Given the description of an element on the screen output the (x, y) to click on. 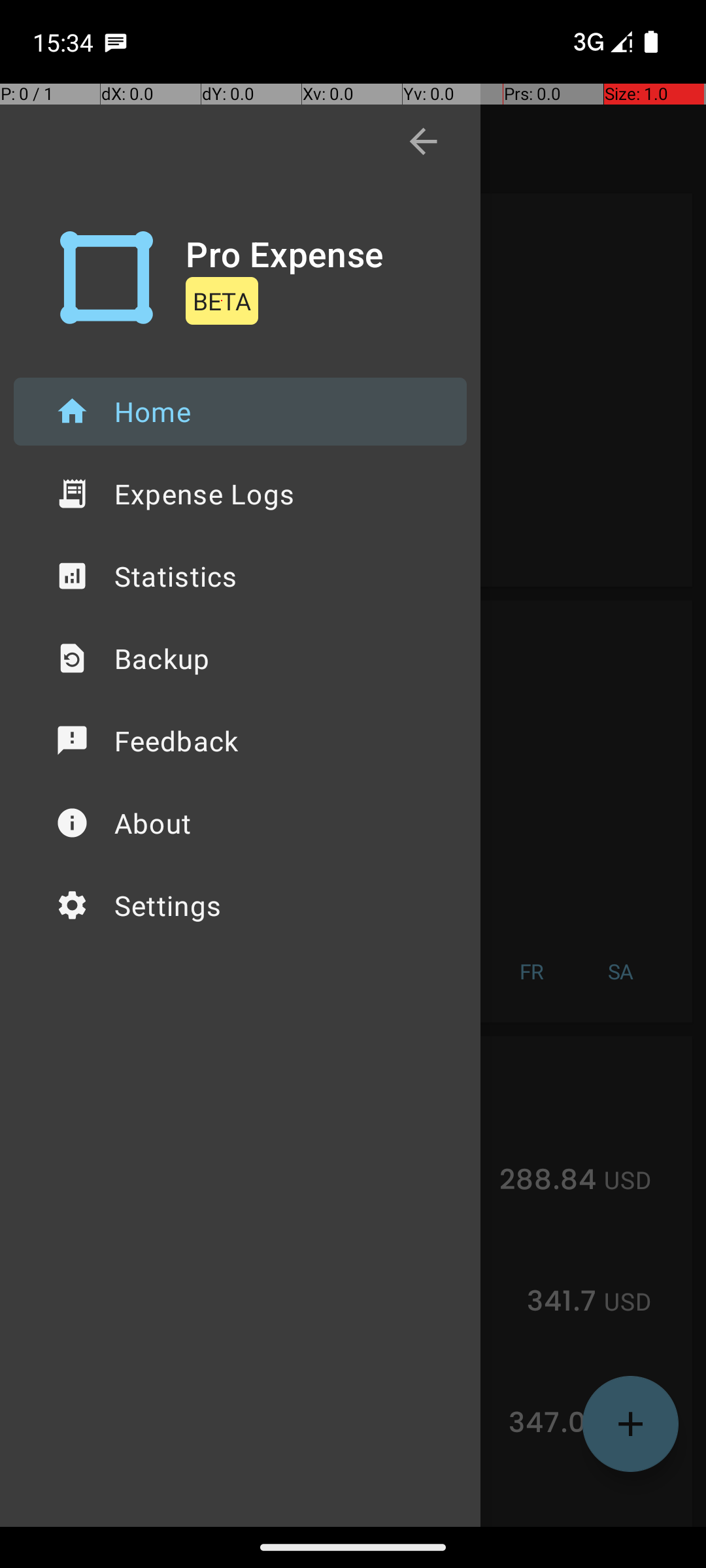
Pro Expense Element type: android.widget.TextView (284, 253)
BETA Element type: android.widget.TextView (221, 300)
Expense Logs Element type: android.widget.CheckedTextView (239, 493)
Statistics Element type: android.widget.CheckedTextView (239, 576)
Backup Element type: android.widget.CheckedTextView (239, 658)
Feedback Element type: android.widget.CheckedTextView (239, 740)
About Element type: android.widget.CheckedTextView (239, 823)
